Given the description of an element on the screen output the (x, y) to click on. 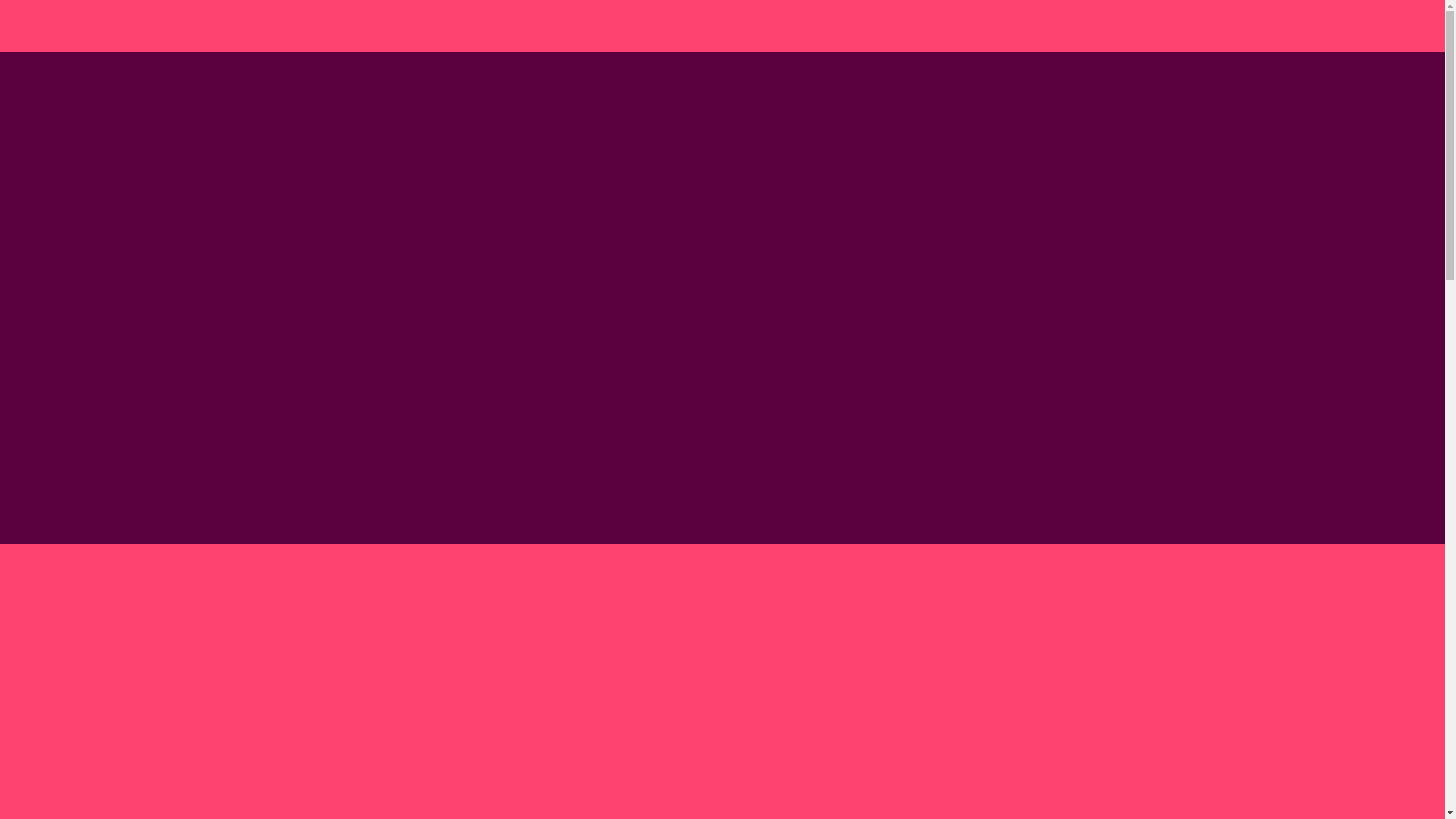
Investors (1242, 27)
People (892, 27)
News (1181, 27)
Our Story (828, 27)
Companies (1114, 27)
Life at Banijay (969, 27)
Shows (1045, 27)
